Given the description of an element on the screen output the (x, y) to click on. 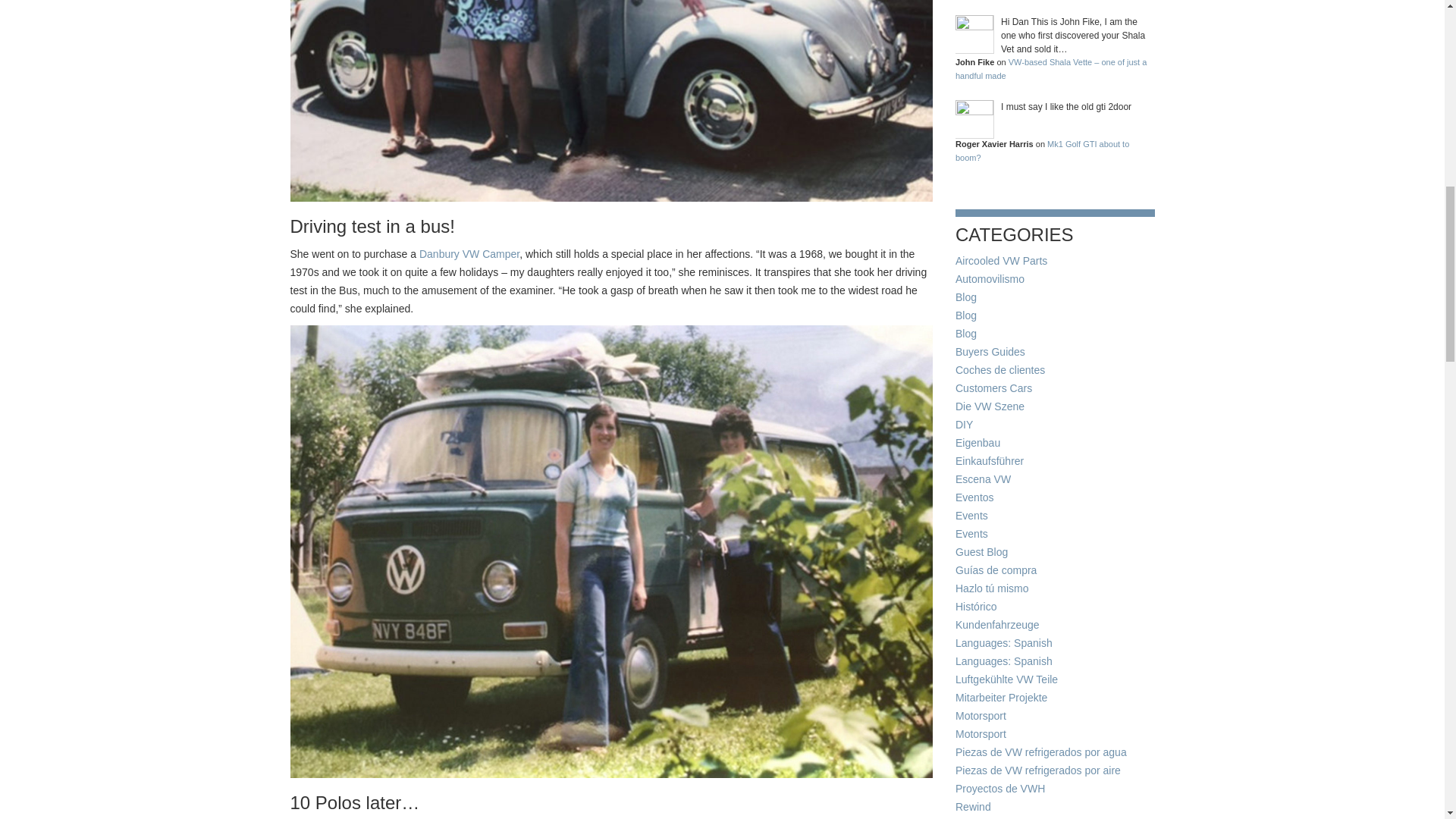
Blog (965, 315)
DIY (963, 424)
Eventos (974, 497)
Blog (965, 333)
Aircooled VW Parts (1000, 260)
Buyers Guides (990, 351)
Coches de clientes (1000, 369)
Escena VW (982, 479)
Mk1 Golf GTI about to boom? (1042, 150)
Danbury VW Camper (469, 254)
Die VW Szene (990, 406)
Automovilismo (990, 278)
